Given the description of an element on the screen output the (x, y) to click on. 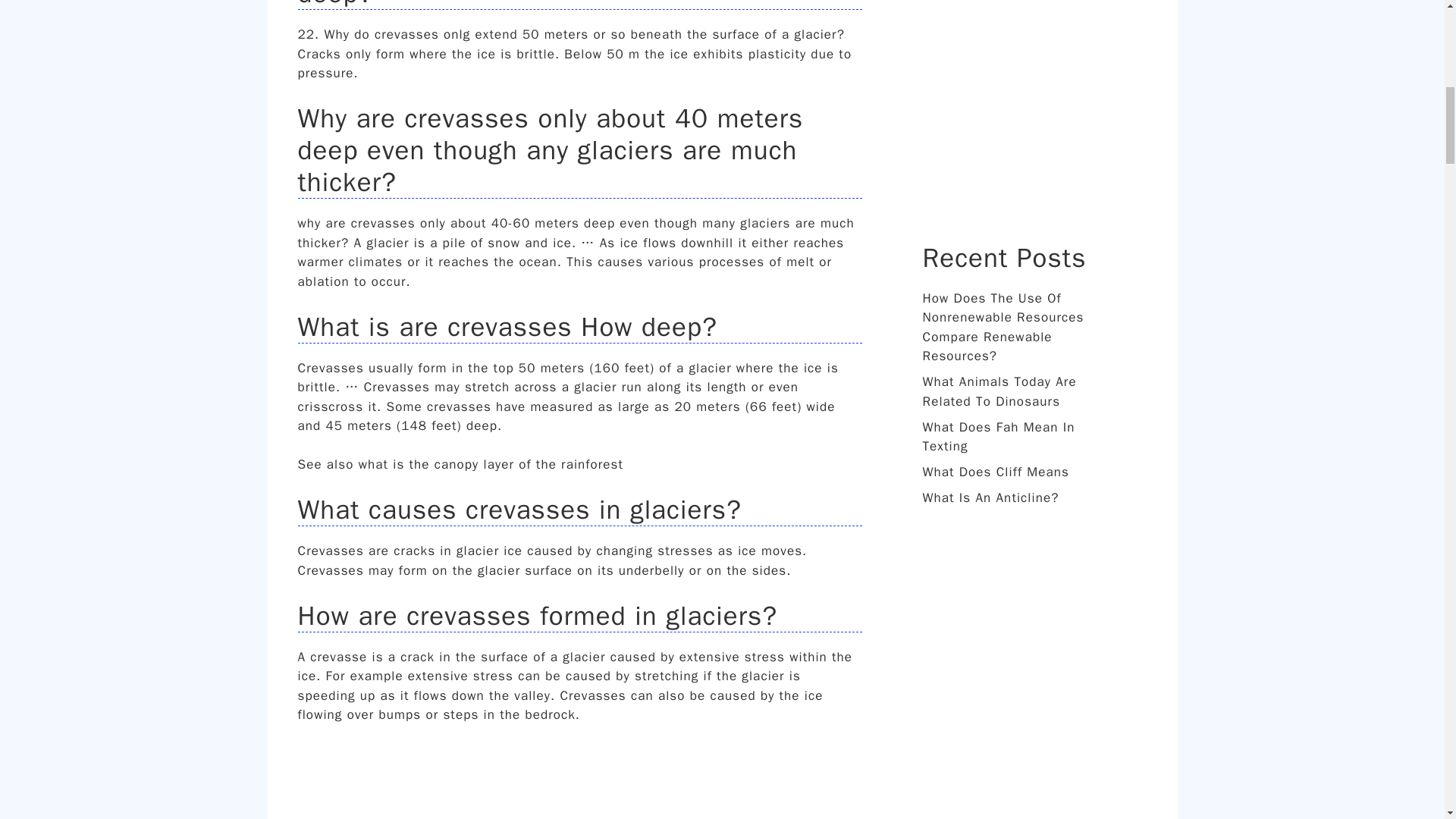
What Animals Today Are Related To Dinosaurs (998, 391)
What Is An Anticline? (989, 497)
What Does Fah Mean In Texting (997, 436)
What Does Cliff Means (994, 471)
